Given the description of an element on the screen output the (x, y) to click on. 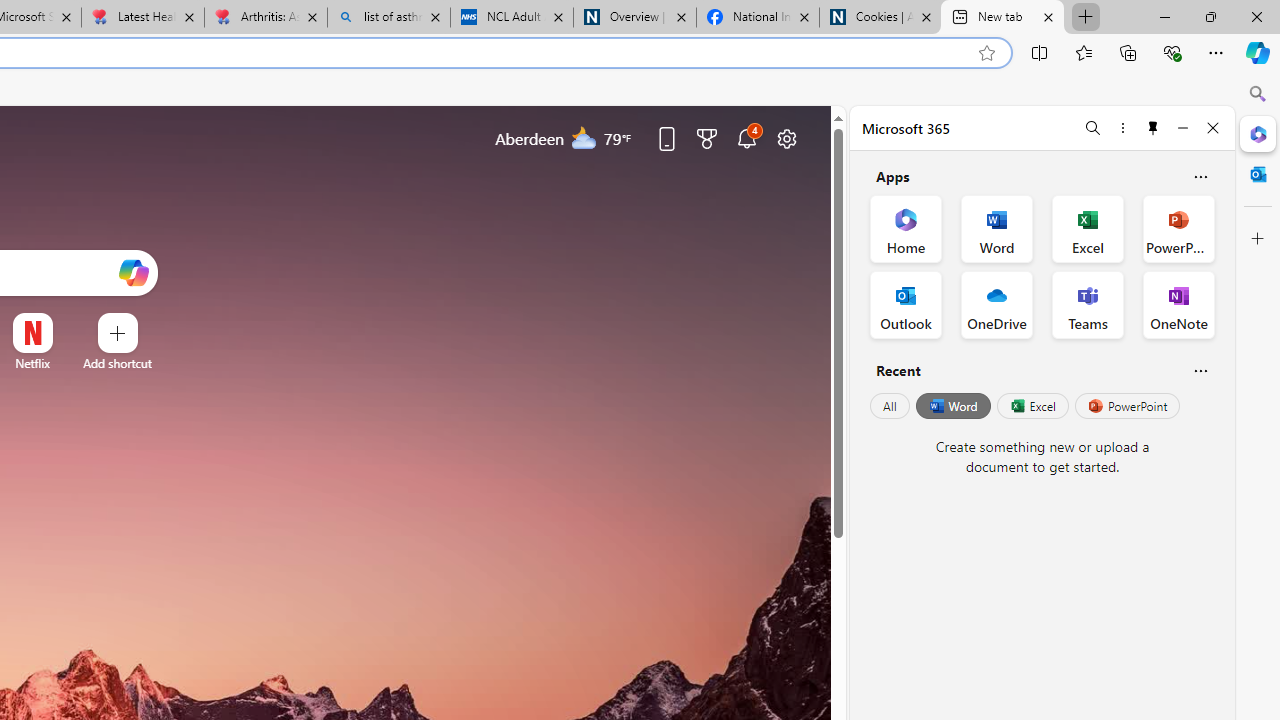
Home Office App (906, 228)
Page settings (786, 138)
Add a site (117, 363)
Excel Office App (1087, 228)
